Given the description of an element on the screen output the (x, y) to click on. 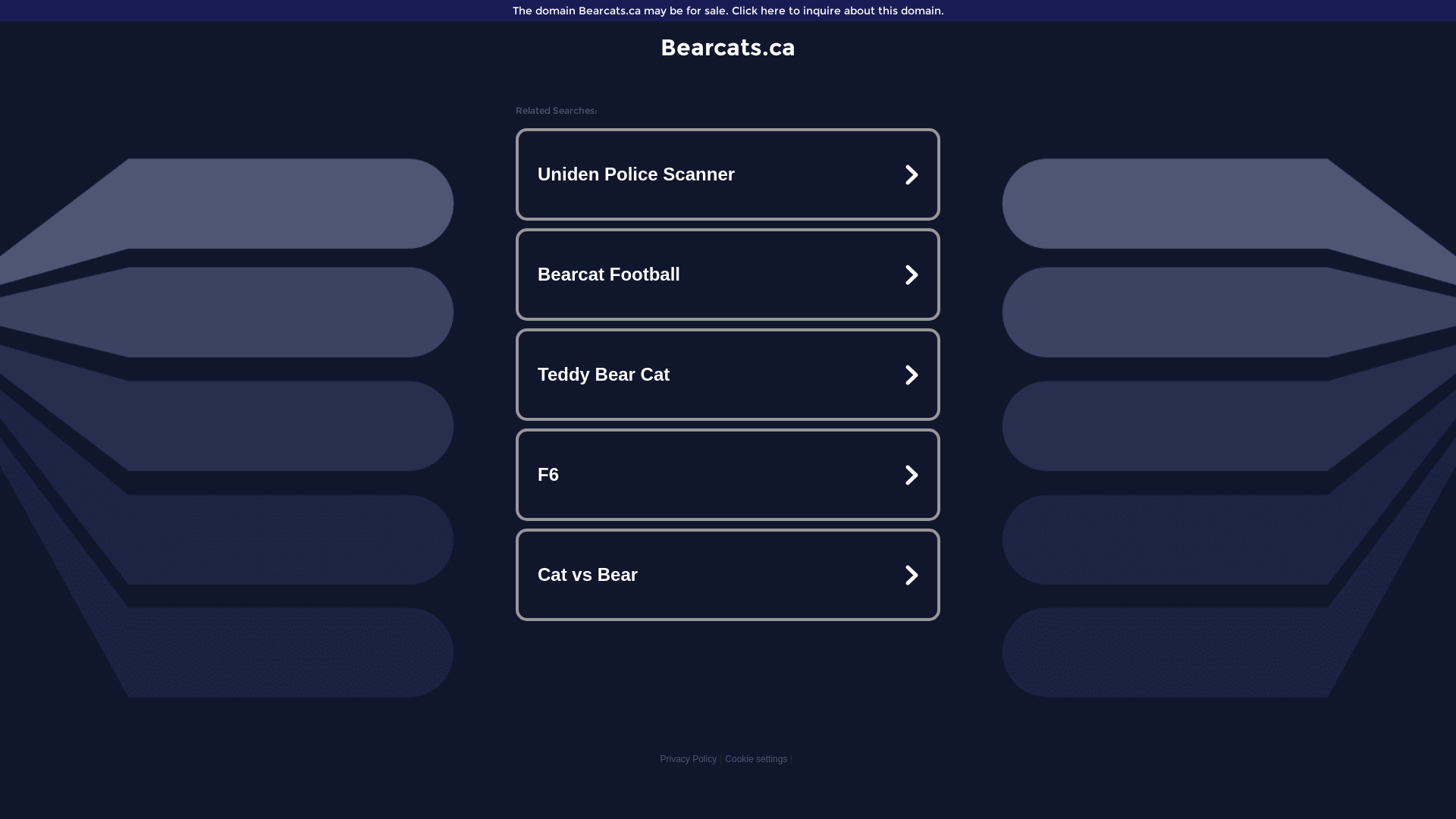
Bearcats.ca Element type: text (727, 47)
Cat vs Bear Element type: text (727, 574)
Cookie settings Element type: text (755, 758)
Bearcat Football Element type: text (727, 274)
F6 Element type: text (727, 474)
Privacy Policy Element type: text (687, 758)
Uniden Police Scanner Element type: text (727, 174)
Teddy Bear Cat Element type: text (727, 374)
